Given the description of an element on the screen output the (x, y) to click on. 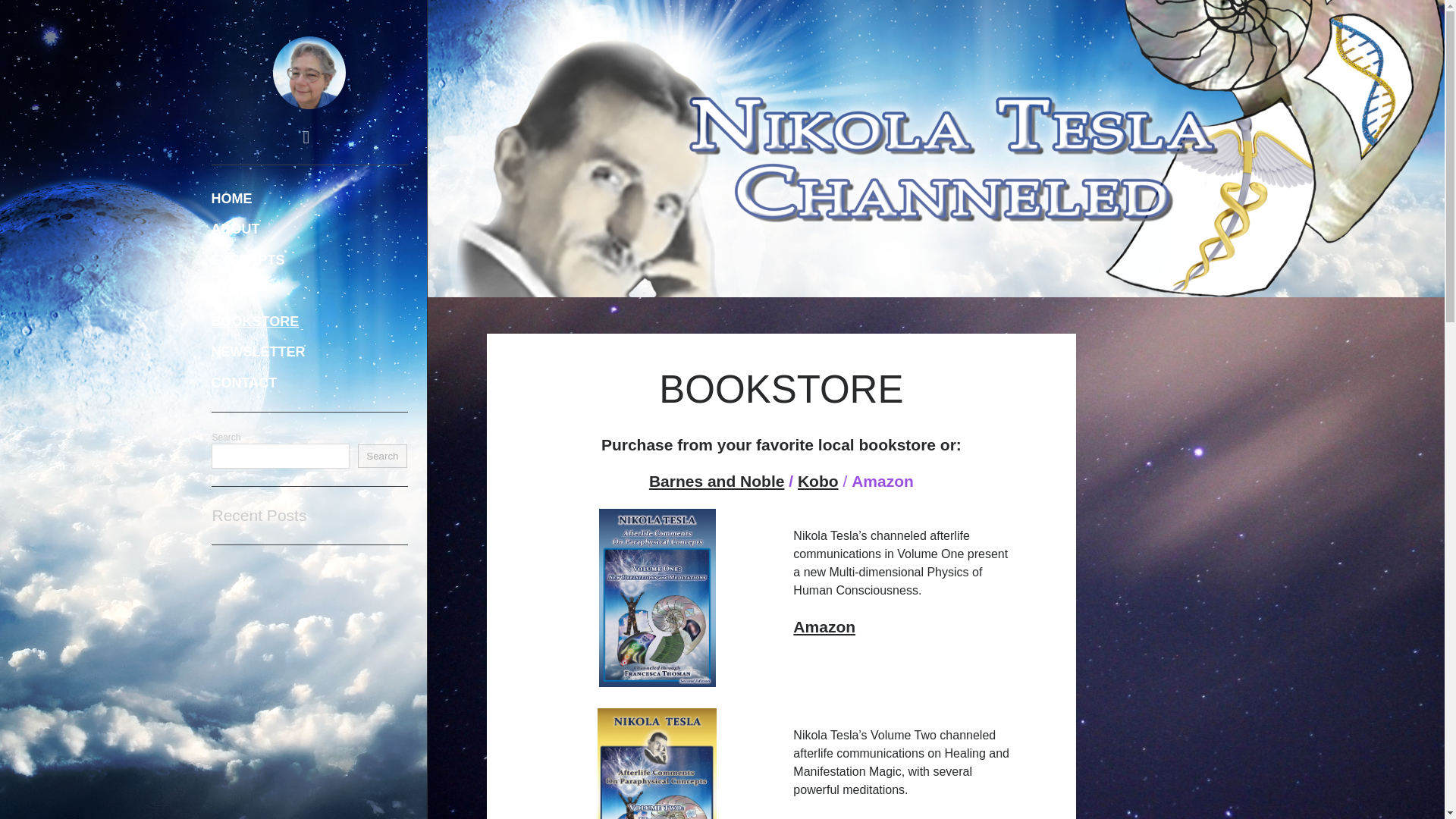
Search (382, 456)
BOOKSTORE (254, 322)
CONTACT (243, 383)
Amazon (824, 626)
BLOG (230, 290)
NEWSLETTER (257, 352)
Kobo (817, 480)
Barnes and Noble (716, 480)
EXCERPTS (247, 260)
HOME (231, 199)
Amazon (824, 818)
ABOUT (235, 229)
